Given the description of an element on the screen output the (x, y) to click on. 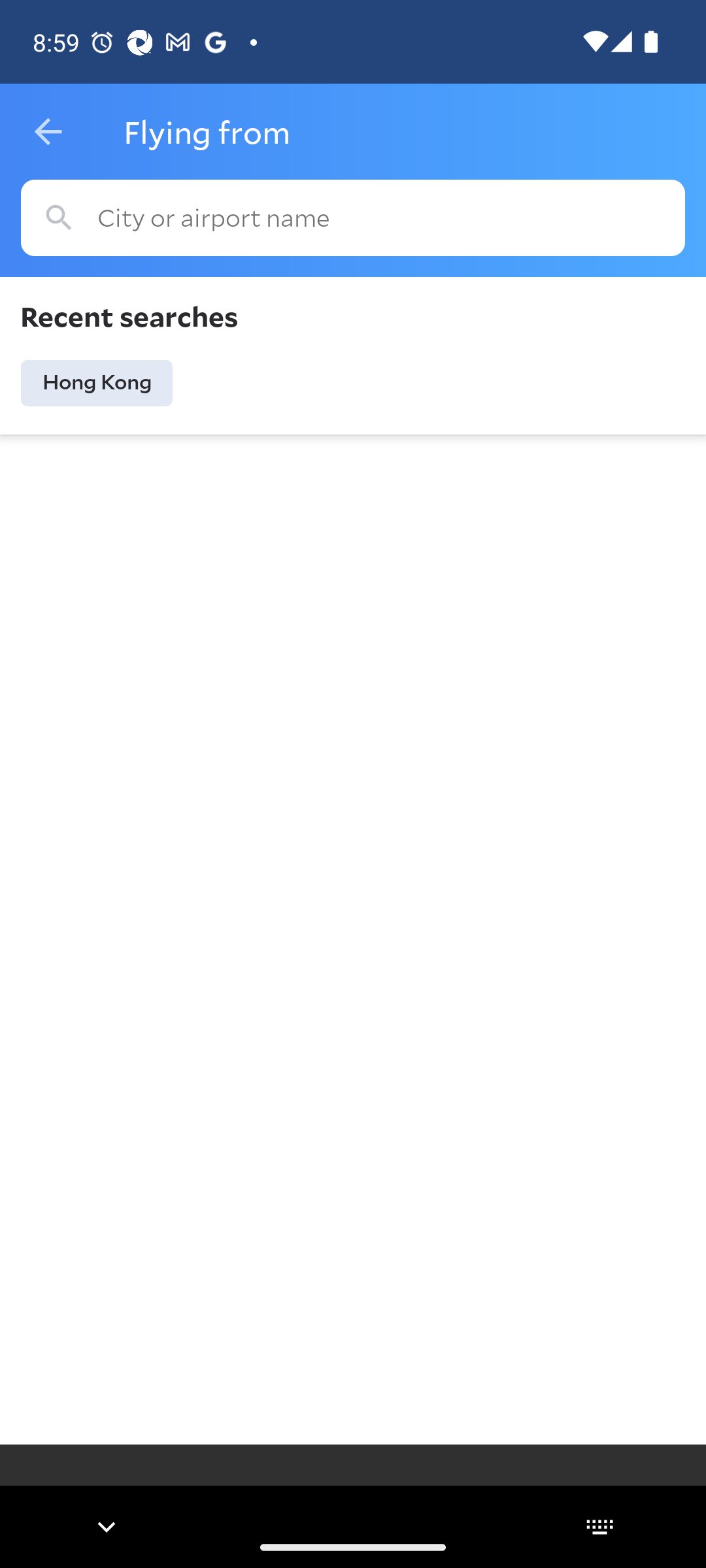
Navigate up (48, 131)
City or airport name (352, 217)
Hong Kong  Hong Kong (96, 383)
